Given the description of an element on the screen output the (x, y) to click on. 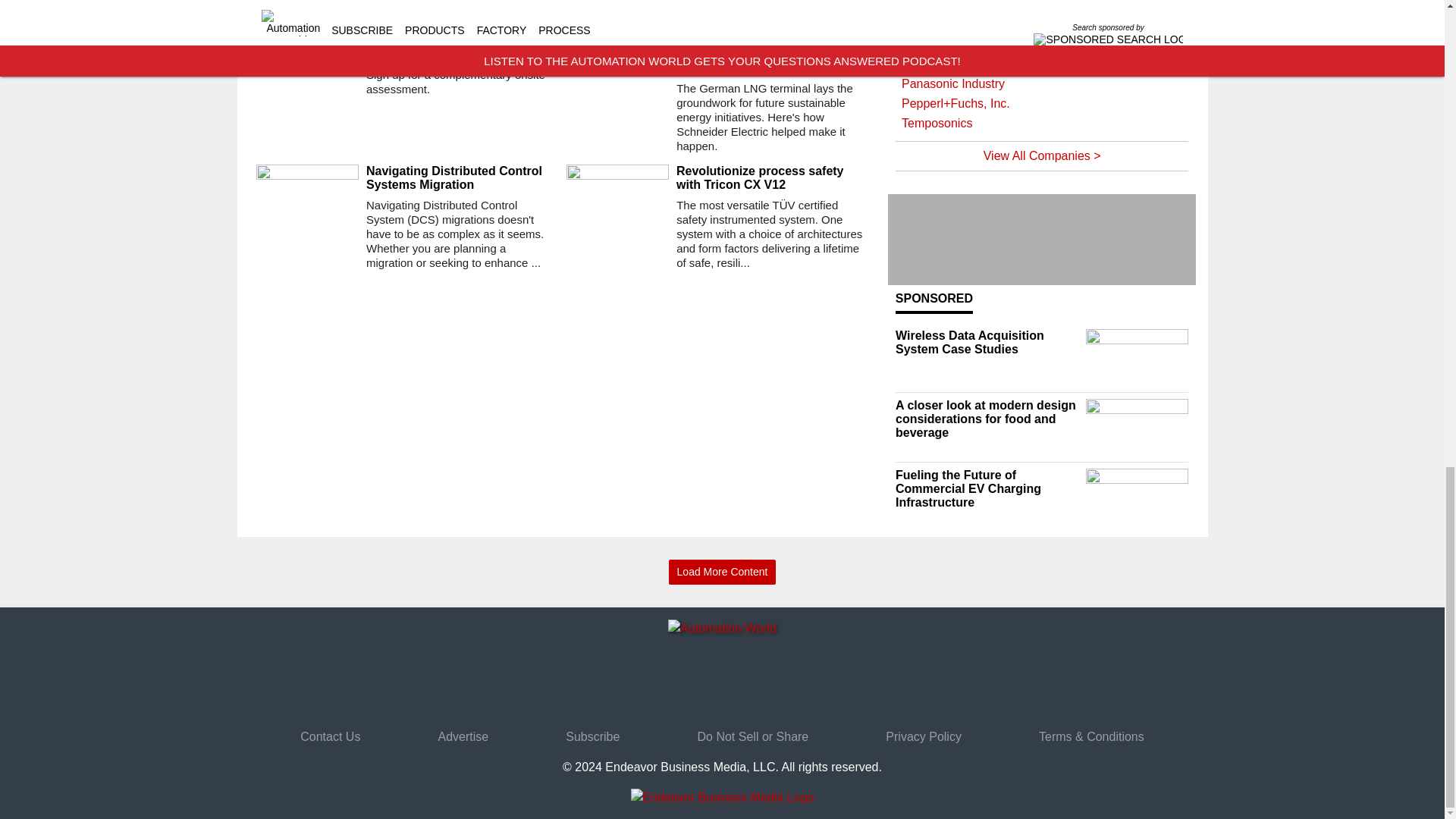
HEIDENHAIN Corporation (1042, 44)
Meet our experts - Reduce complexity of a DCS Migration (459, 47)
Panasonic Industry (1042, 84)
Encoder Products Company (1042, 7)
Navigating Distributed Control Systems Migration (459, 177)
Motion Automation Intelligence (1042, 64)
Revolutionize process safety with Tricon CX V12 (770, 177)
